Given the description of an element on the screen output the (x, y) to click on. 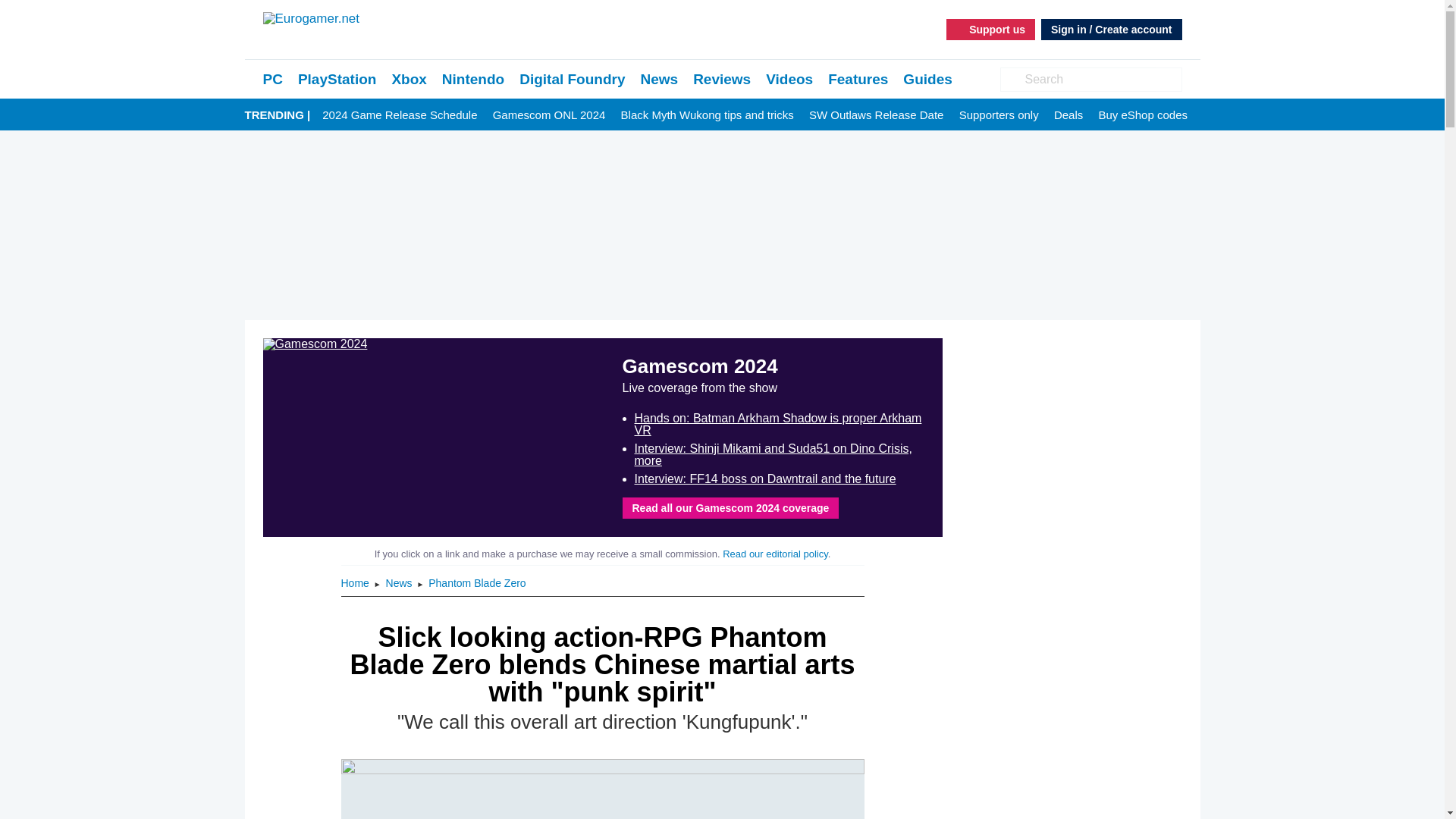
SW Outlaws Release Date (876, 114)
News (659, 78)
SW Outlaws Release Date (876, 114)
Support us (990, 29)
Xbox (408, 78)
Videos (788, 78)
Gamescom ONL 2024 (549, 114)
Supporters only (999, 114)
Read all our Gamescom 2024 coverage (729, 507)
Reviews (722, 78)
